Given the description of an element on the screen output the (x, y) to click on. 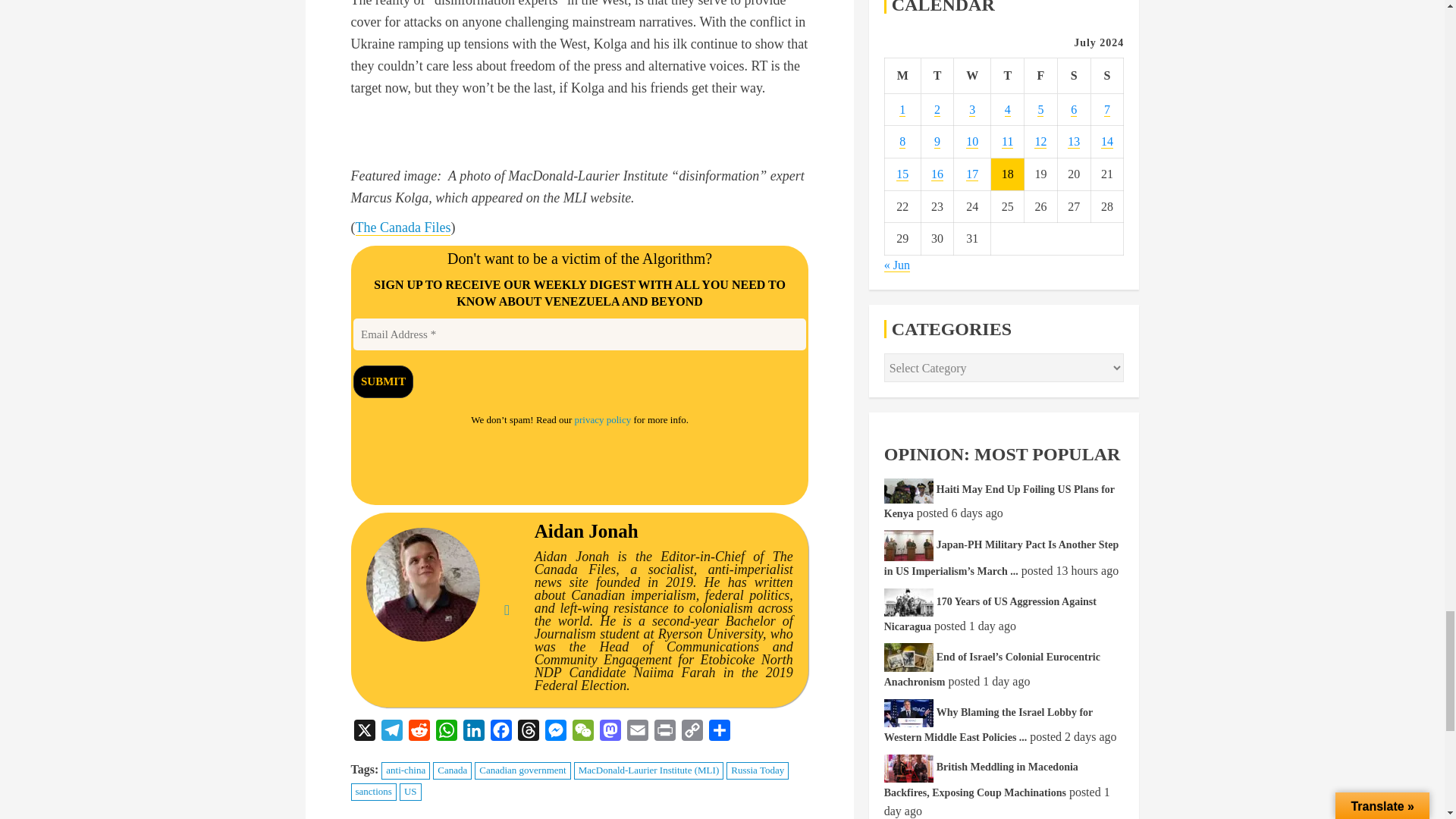
SUBMIT (383, 382)
